Given the description of an element on the screen output the (x, y) to click on. 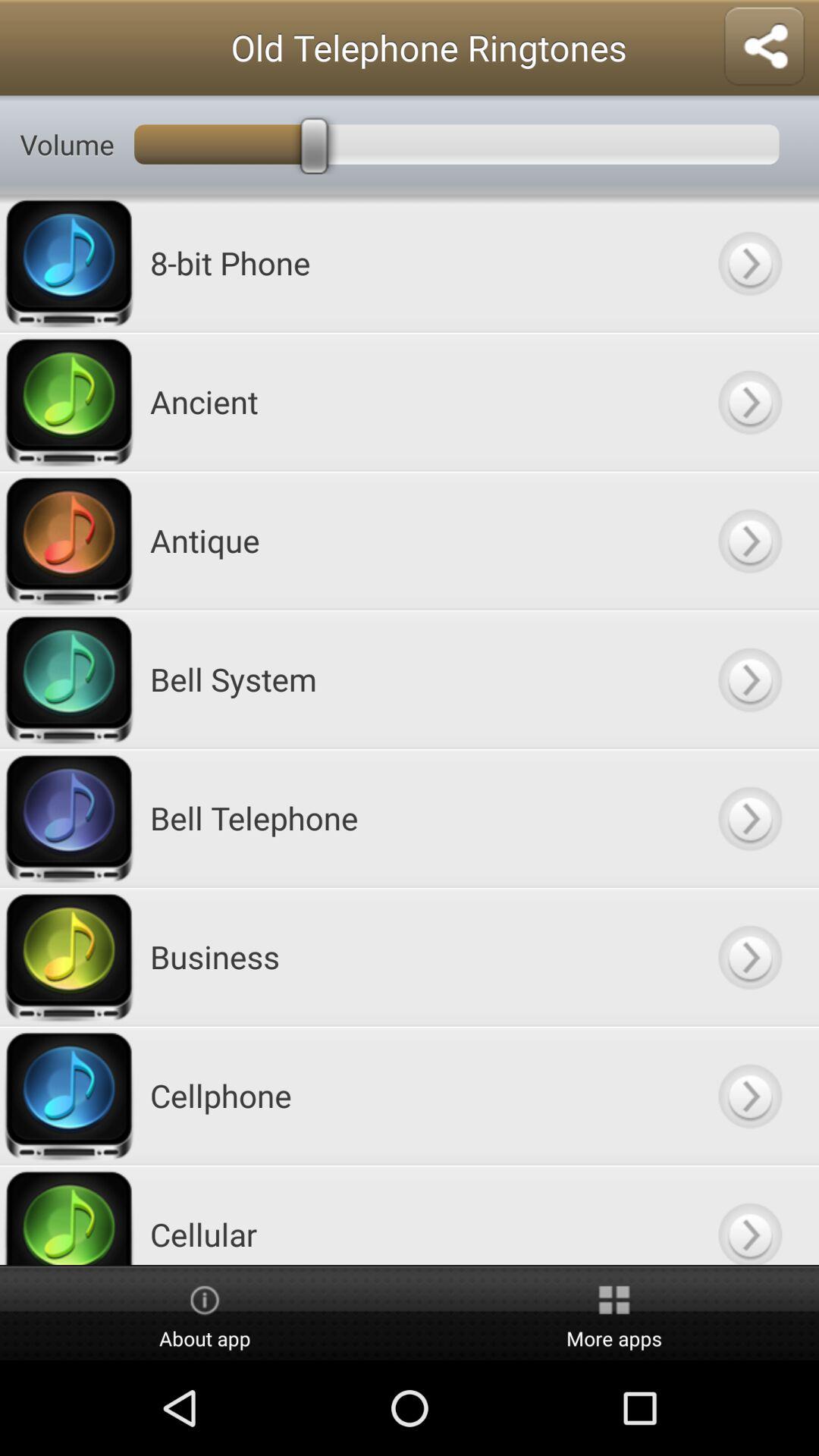
open button (749, 540)
